Given the description of an element on the screen output the (x, y) to click on. 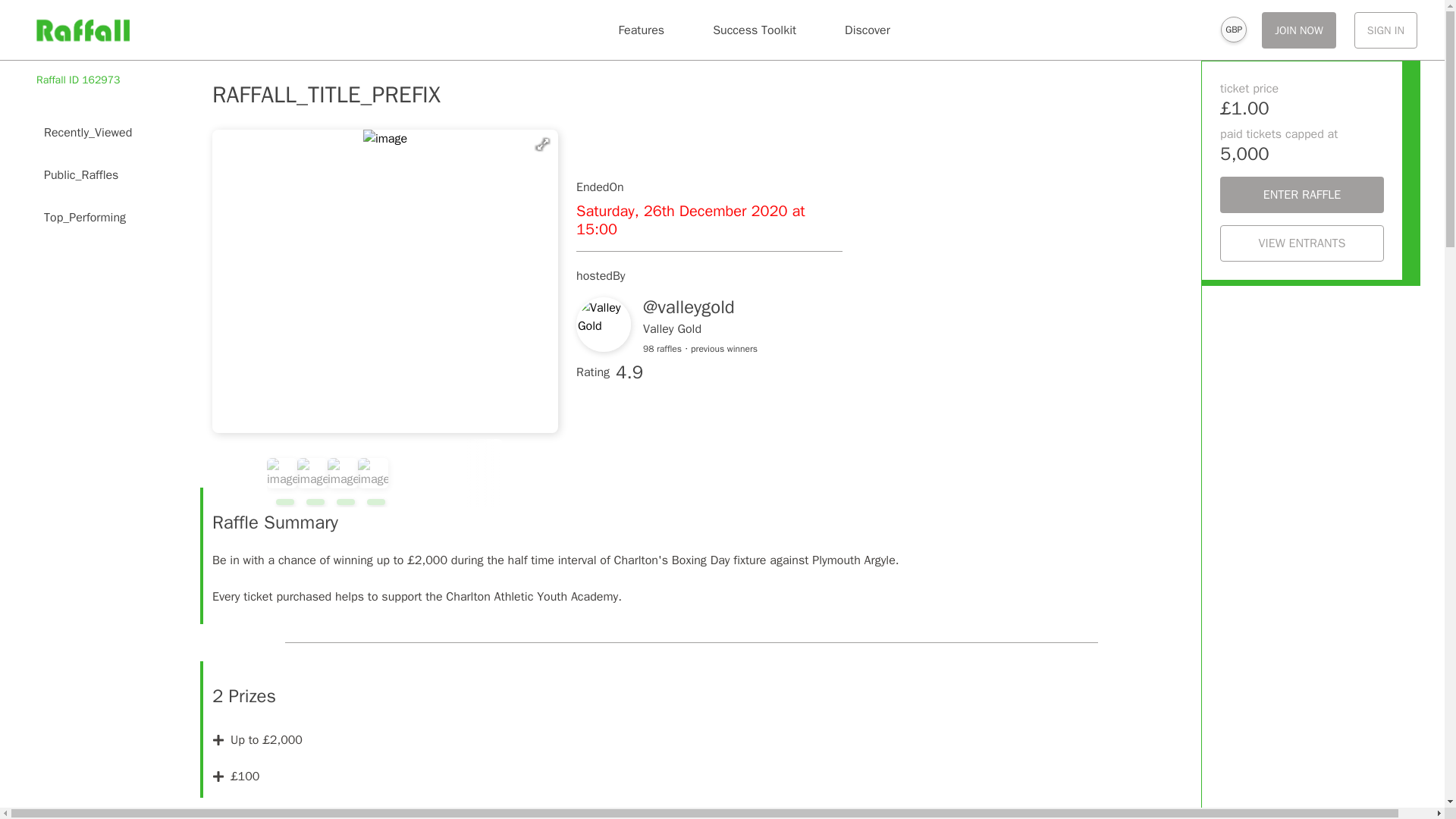
JOIN NOW (1299, 30)
Valley Gold (672, 328)
Raffall ID 162973 (78, 79)
Success Toolkit (754, 30)
SIGN IN (1385, 30)
ENTER RAFFLE (1302, 194)
Features (641, 30)
VIEW ENTRANTS (1302, 243)
Discover (867, 30)
